Given the description of an element on the screen output the (x, y) to click on. 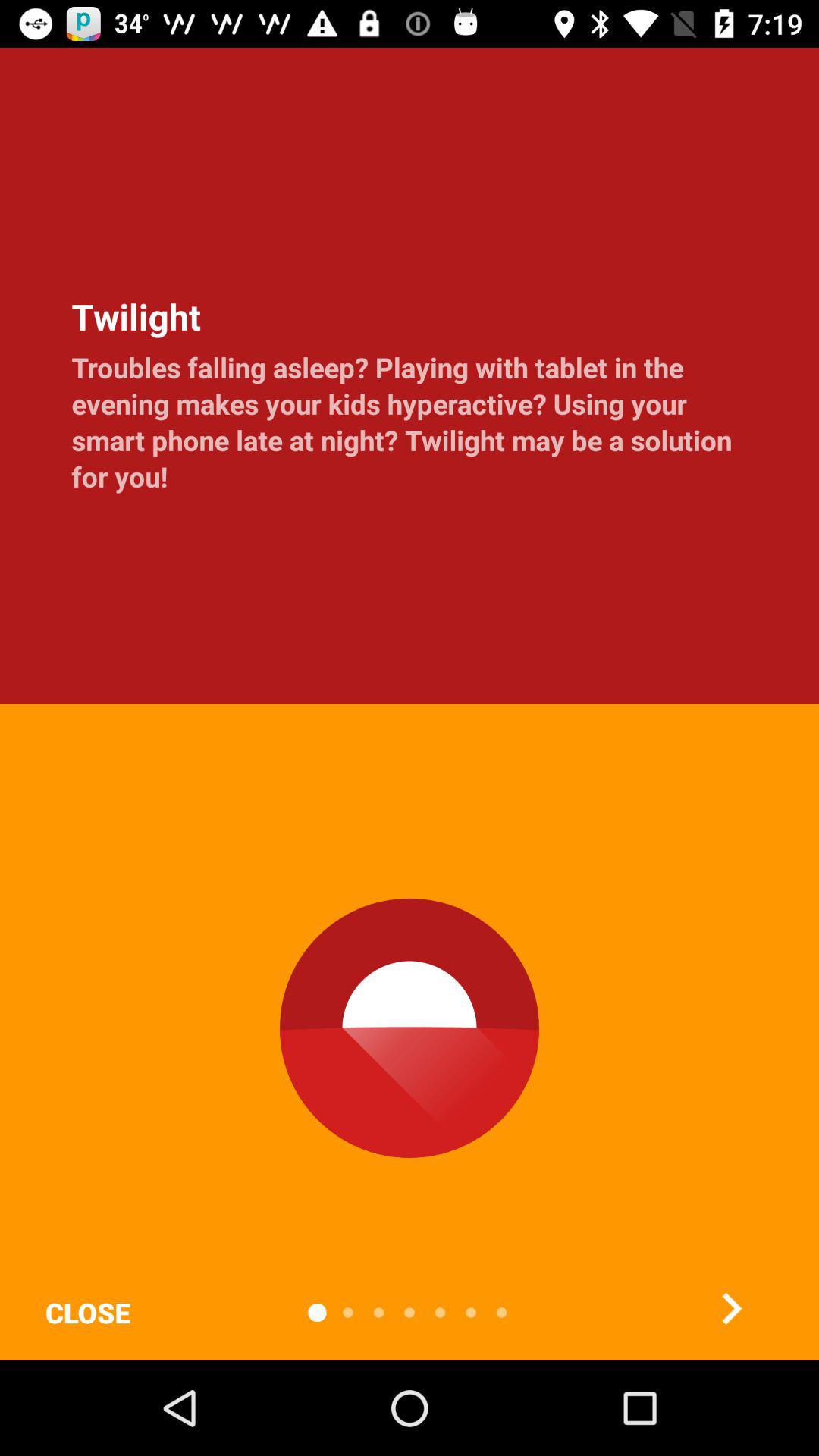
turn off the close item (87, 1312)
